Given the description of an element on the screen output the (x, y) to click on. 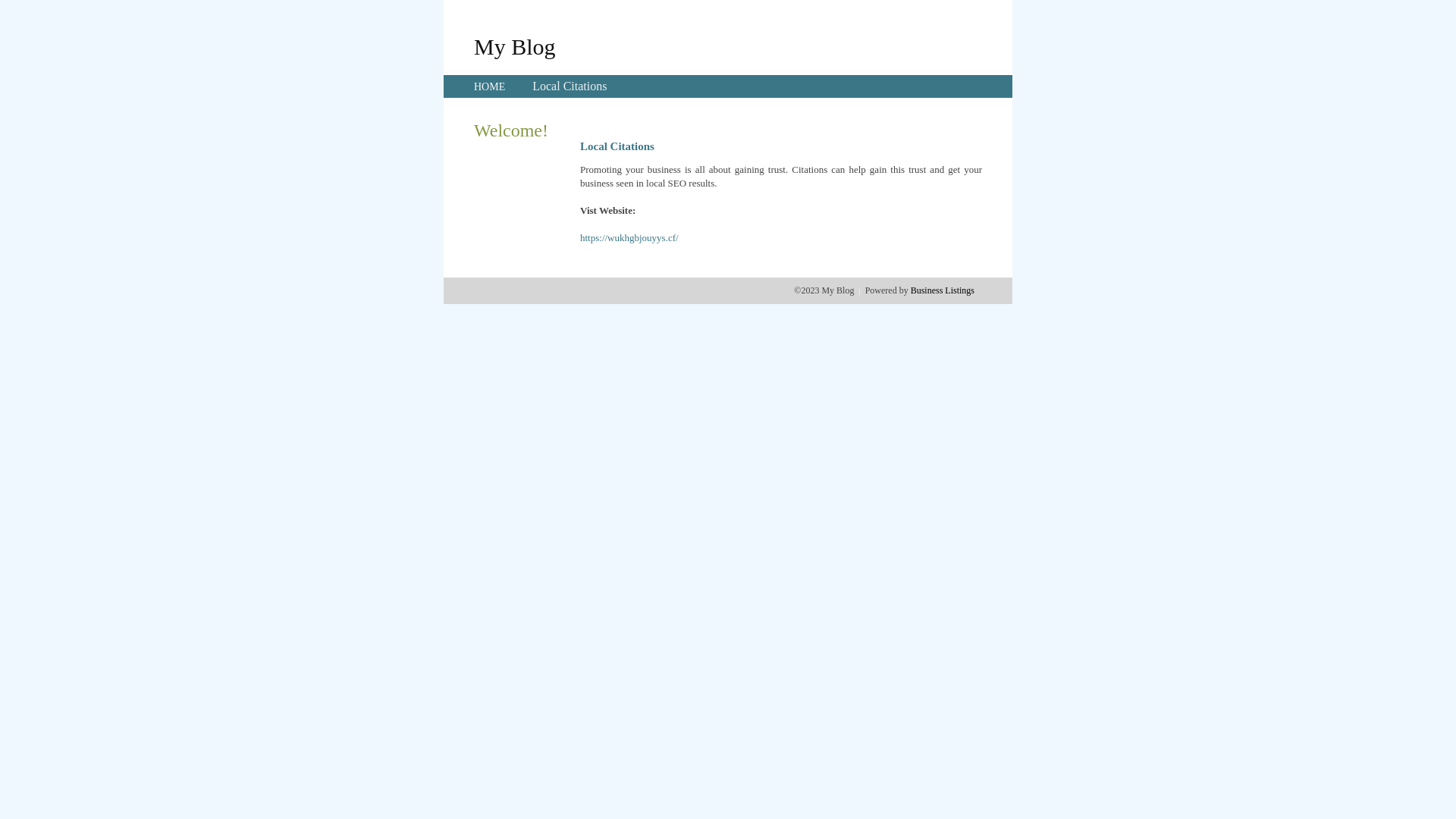
My Blog Element type: text (514, 46)
HOME Element type: text (489, 86)
Local Citations Element type: text (569, 85)
https://wukhgbjouyys.cf/ Element type: text (629, 237)
Business Listings Element type: text (942, 290)
